Given the description of an element on the screen output the (x, y) to click on. 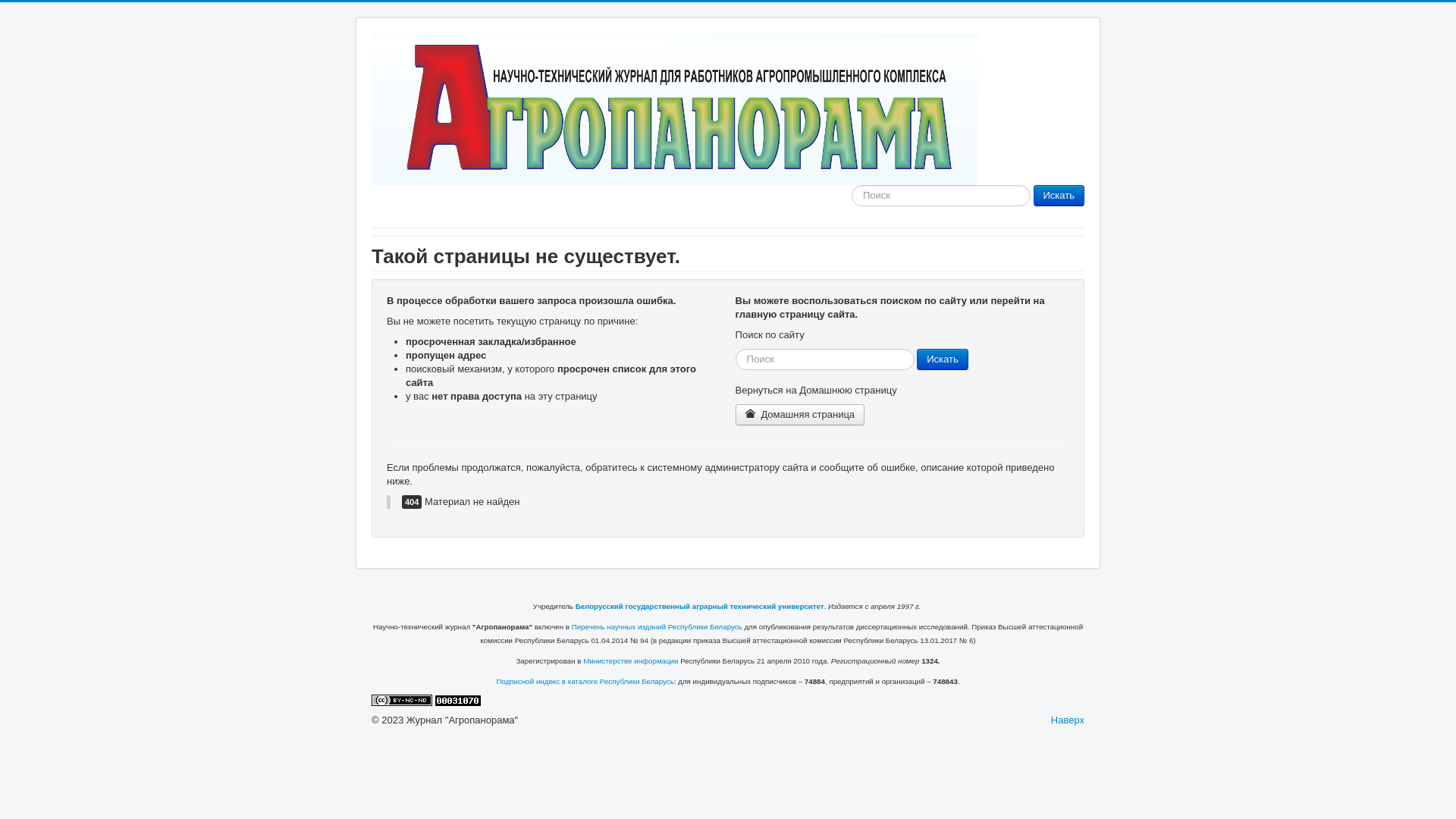
web stats Element type: hover (457, 699)
